Given the description of an element on the screen output the (x, y) to click on. 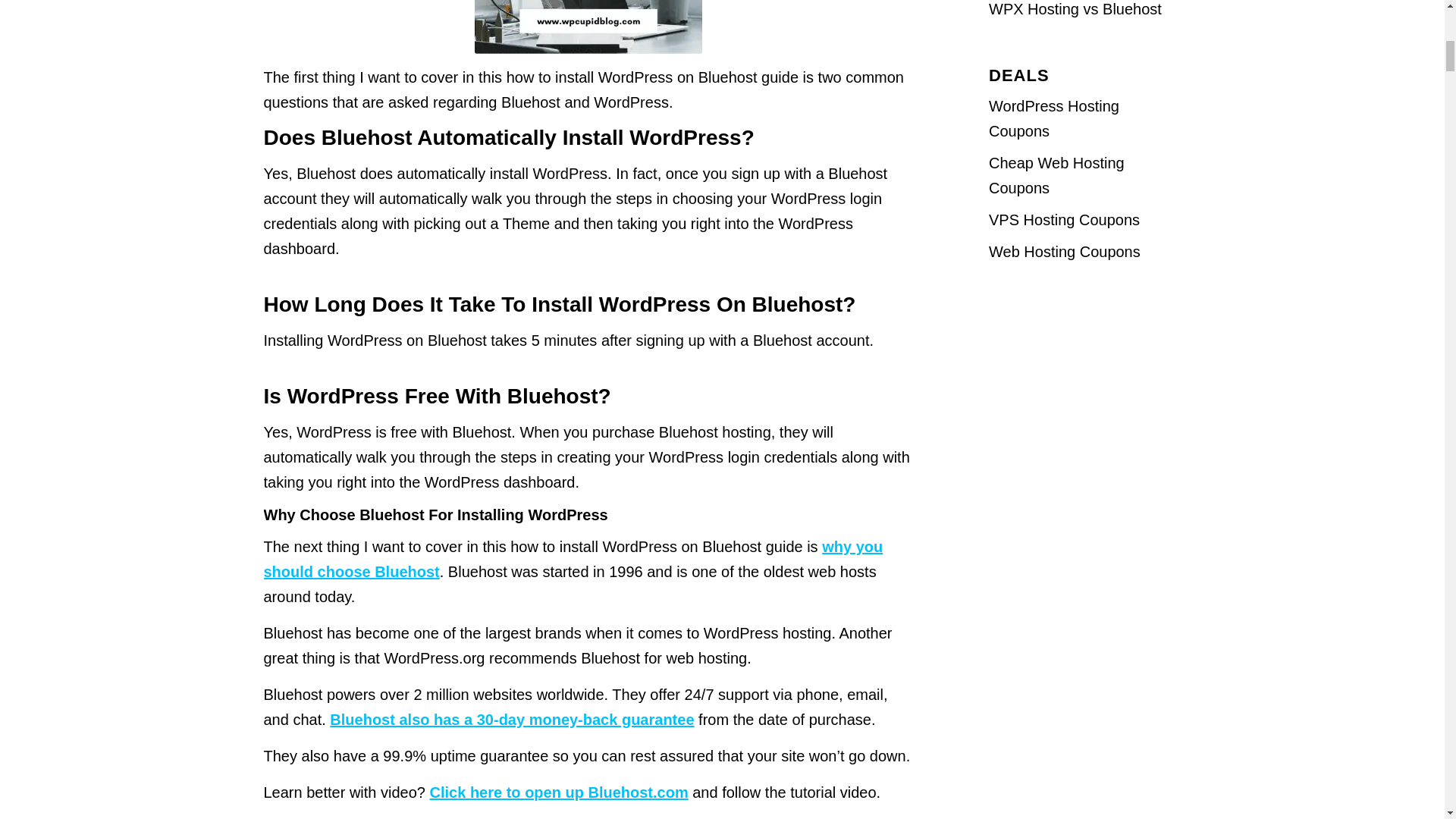
how-to-install-wordpress-on-bluehost (587, 27)
